Given the description of an element on the screen output the (x, y) to click on. 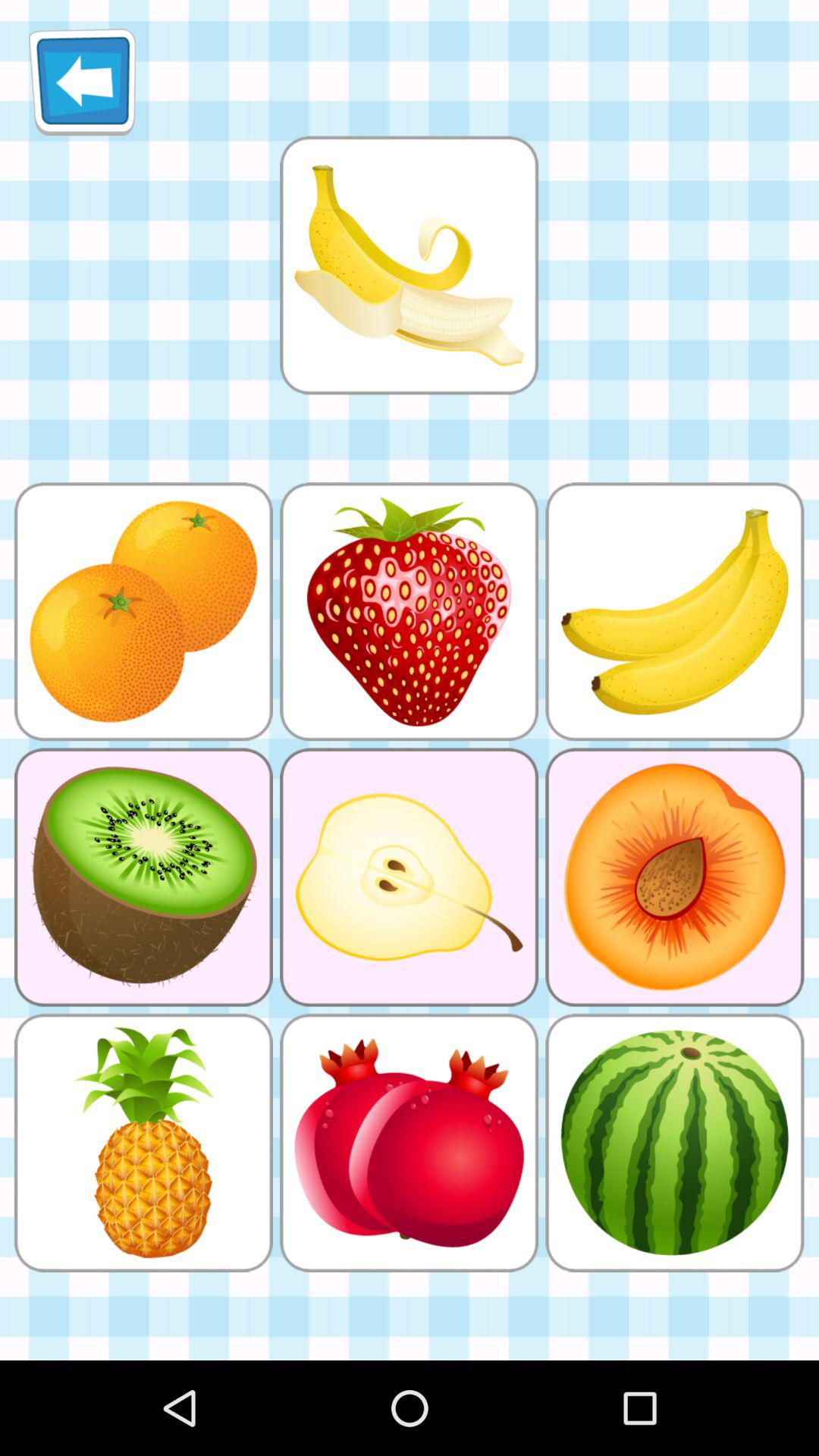
go to select picture (409, 265)
